Given the description of an element on the screen output the (x, y) to click on. 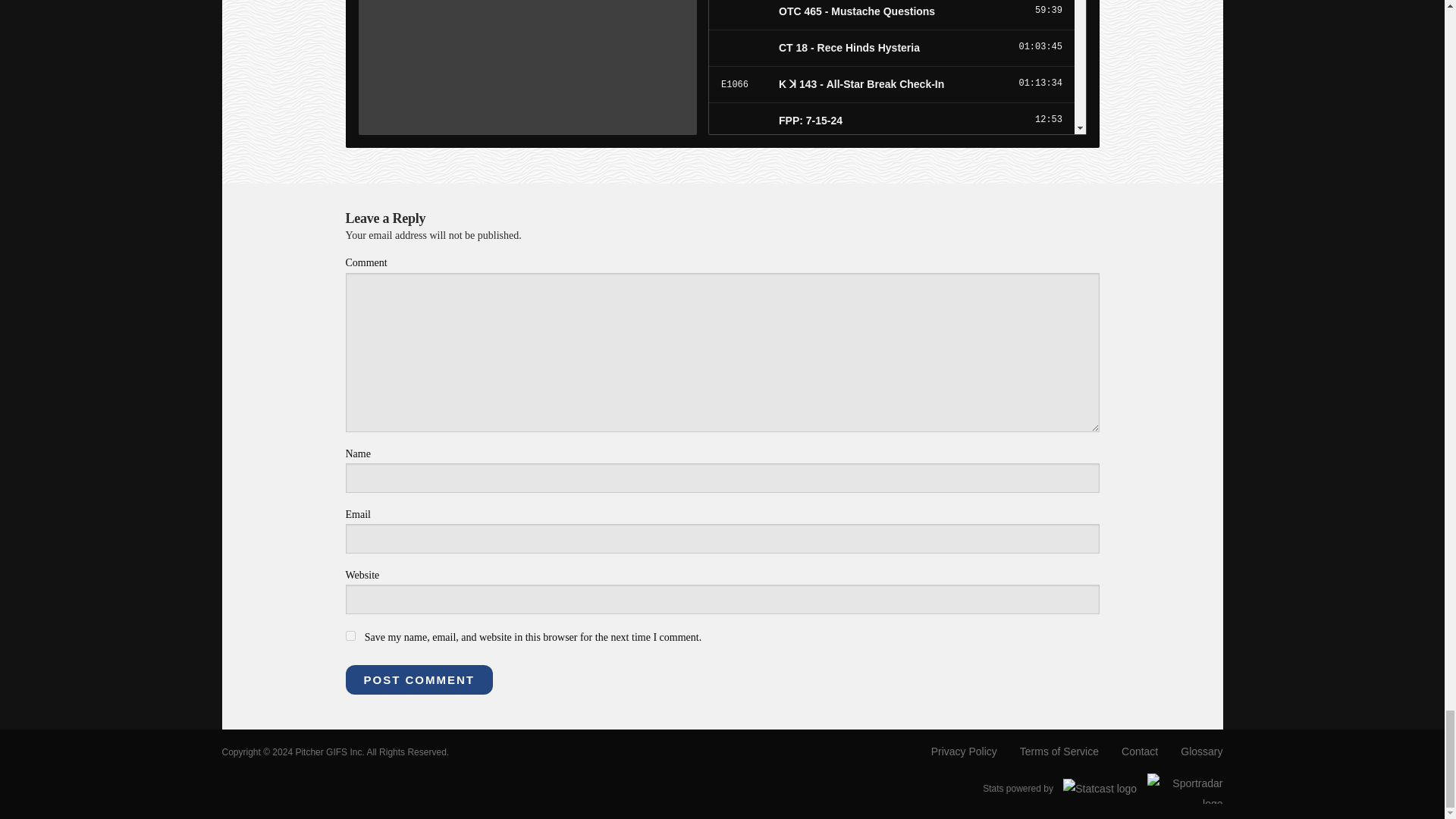
yes (350, 635)
Post Comment (419, 679)
